Given the description of an element on the screen output the (x, y) to click on. 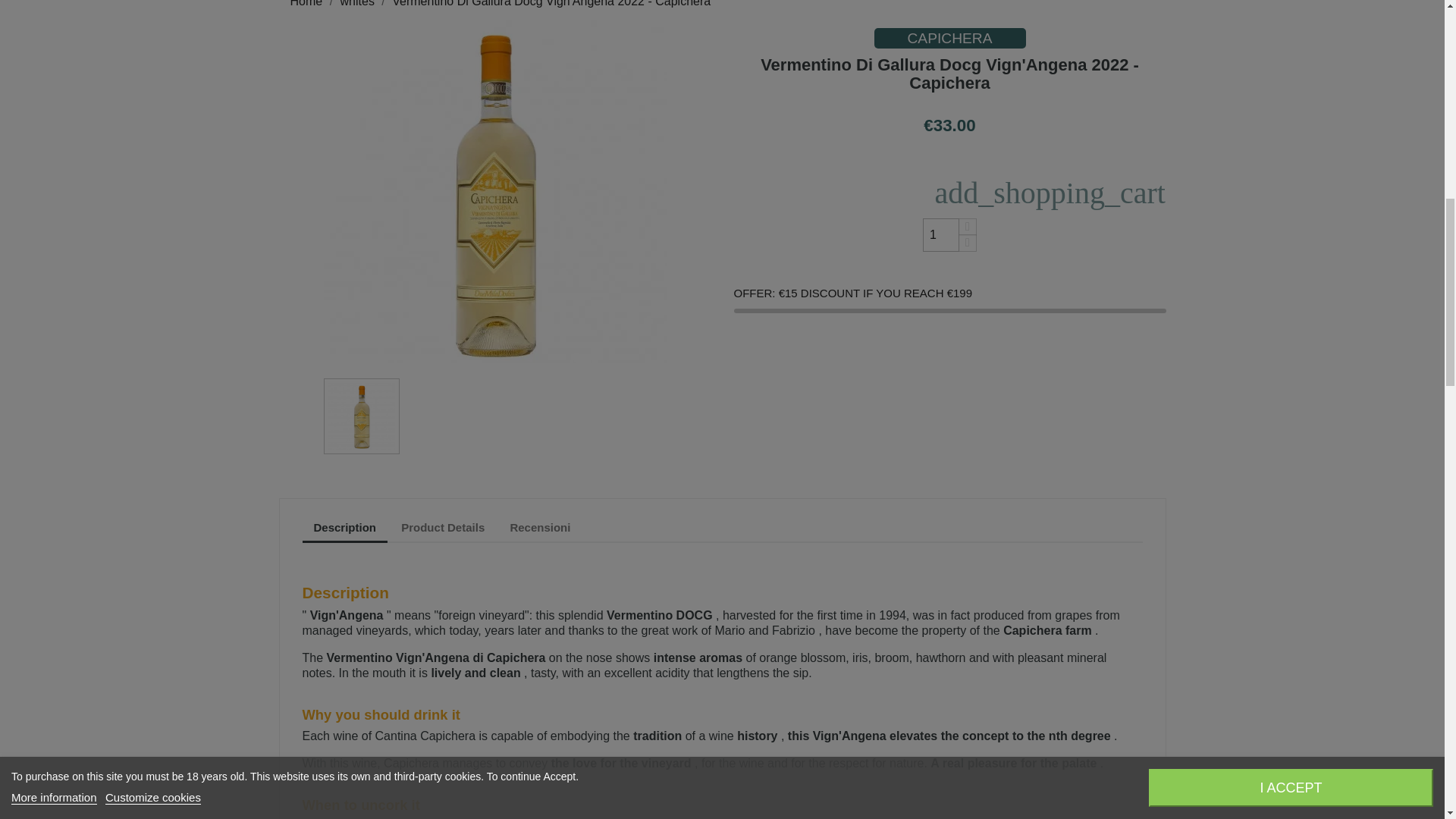
1 (941, 234)
